Given the description of an element on the screen output the (x, y) to click on. 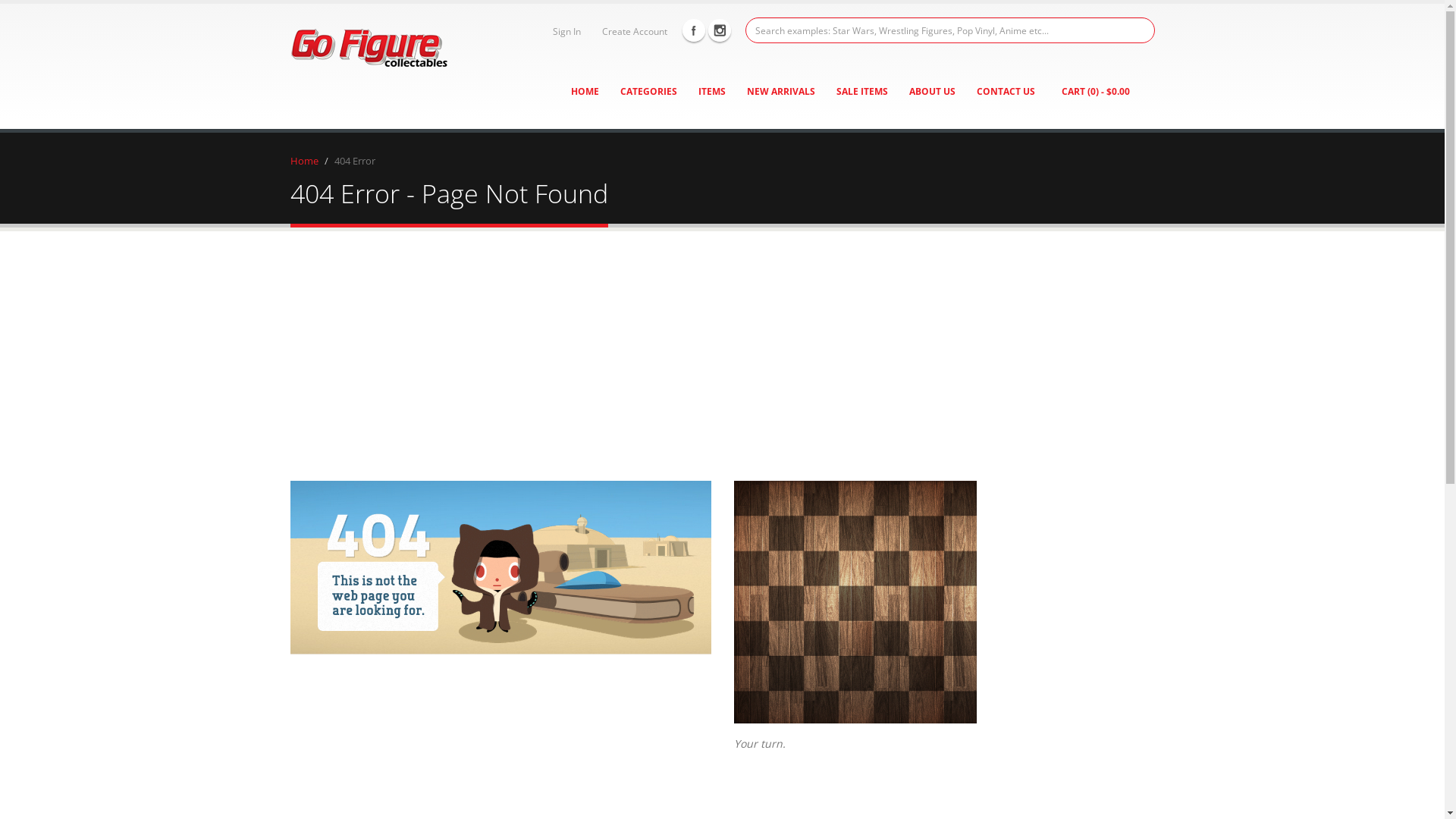
CATEGORIES Element type: text (647, 91)
NEW ARRIVALS Element type: text (781, 91)
Instagram Element type: text (719, 29)
ABOUT US Element type: text (932, 91)
Facebook Element type: text (693, 29)
Create Account Element type: text (631, 30)
CONTACT US Element type: text (1005, 91)
Sign In Element type: text (563, 30)
Advertisement Element type: hover (721, 344)
ITEMS Element type: text (711, 91)
HOME Element type: text (584, 91)
Home Element type: text (303, 160)
CART (0) - $0.00 Element type: text (1095, 91)
SALE ITEMS Element type: text (861, 91)
